Given the description of an element on the screen output the (x, y) to click on. 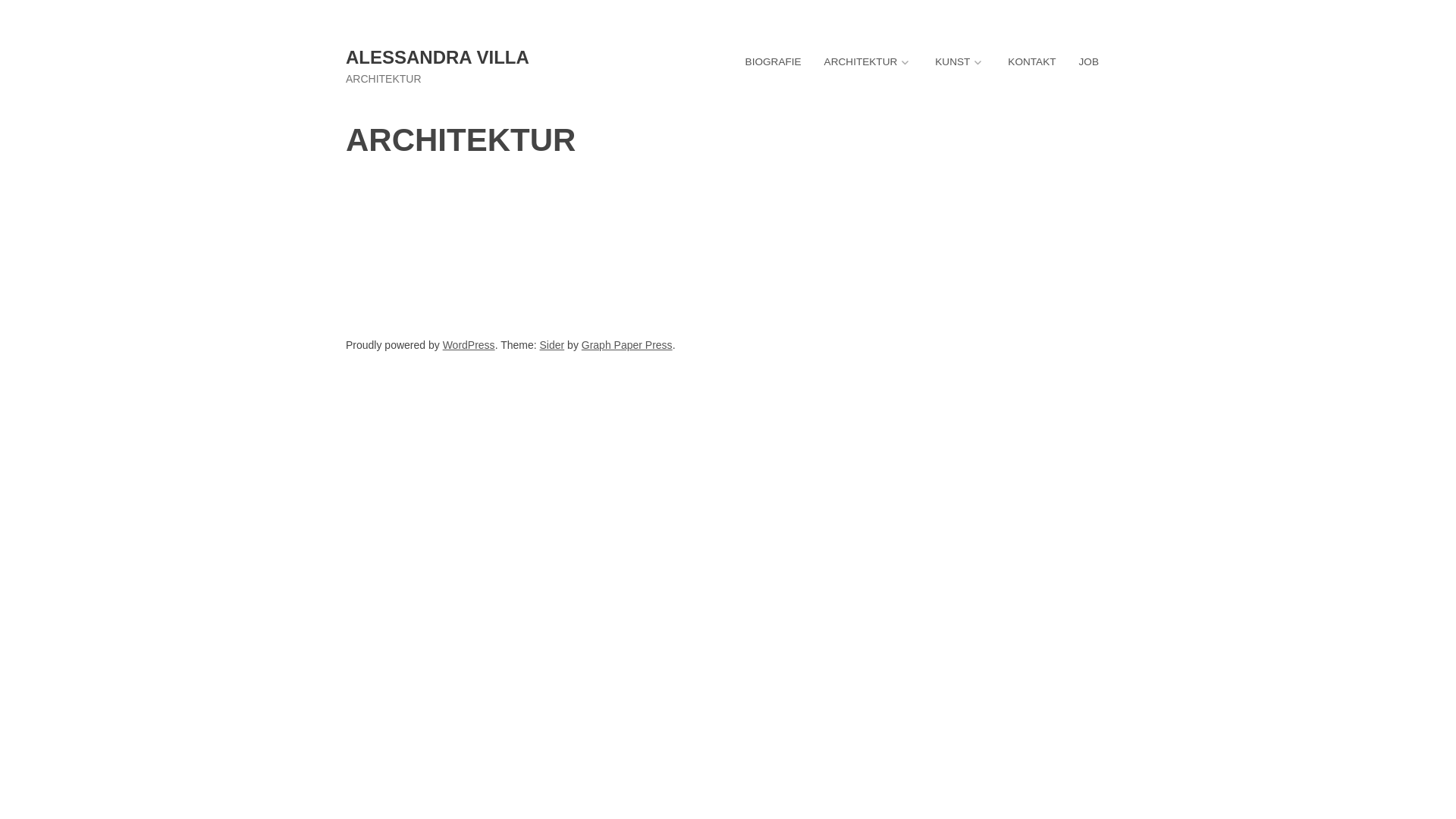
KUNST Element type: text (959, 62)
Graph Paper Press Element type: text (626, 344)
ALESSANDRA VILLA Element type: text (437, 57)
JOB Element type: text (1088, 62)
BIOGRAFIE Element type: text (773, 62)
ARCHITEKTUR Element type: text (868, 62)
KONTAKT Element type: text (1031, 62)
WordPress Element type: text (468, 344)
Sider Element type: text (551, 344)
